Given the description of an element on the screen output the (x, y) to click on. 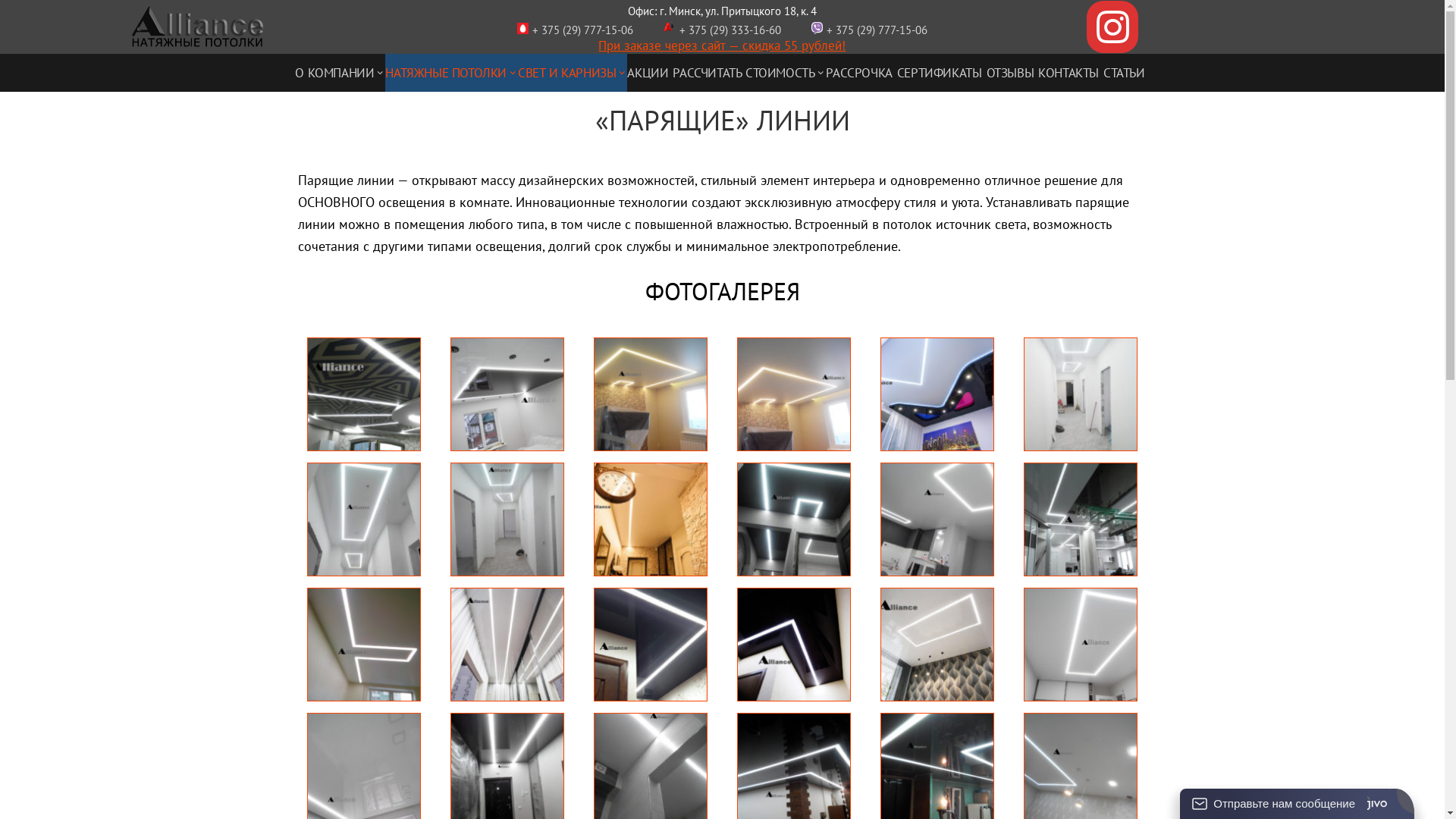
+ 375 (29) 333-16-60 Element type: text (731, 29)
+ 375 (29) 777-15-06 Element type: text (582, 29)
+ 375 (29) 777-15-06 Element type: text (876, 29)
Instagram Element type: hover (1112, 26)
